Given the description of an element on the screen output the (x, y) to click on. 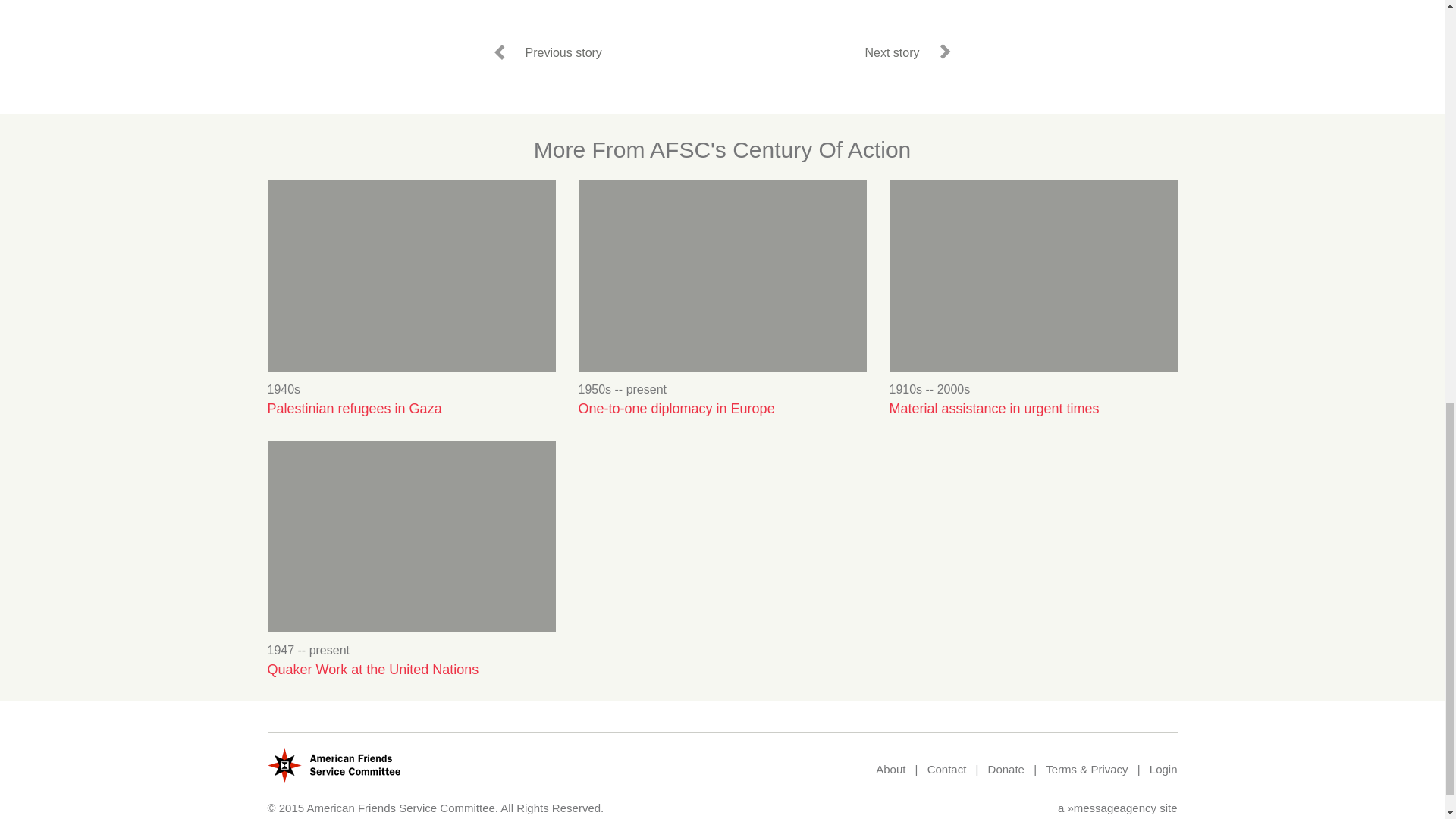
A full service Drupal agency (1111, 807)
Previous story (549, 51)
Login (1163, 768)
One-to-one diplomacy in Europe (722, 408)
Contact (946, 768)
Material assistance in urgent times (1032, 408)
Next story (904, 51)
Quaker Work at the United Nations (410, 669)
Palestinian refugees in Gaza (410, 408)
About (890, 768)
